Given the description of an element on the screen output the (x, y) to click on. 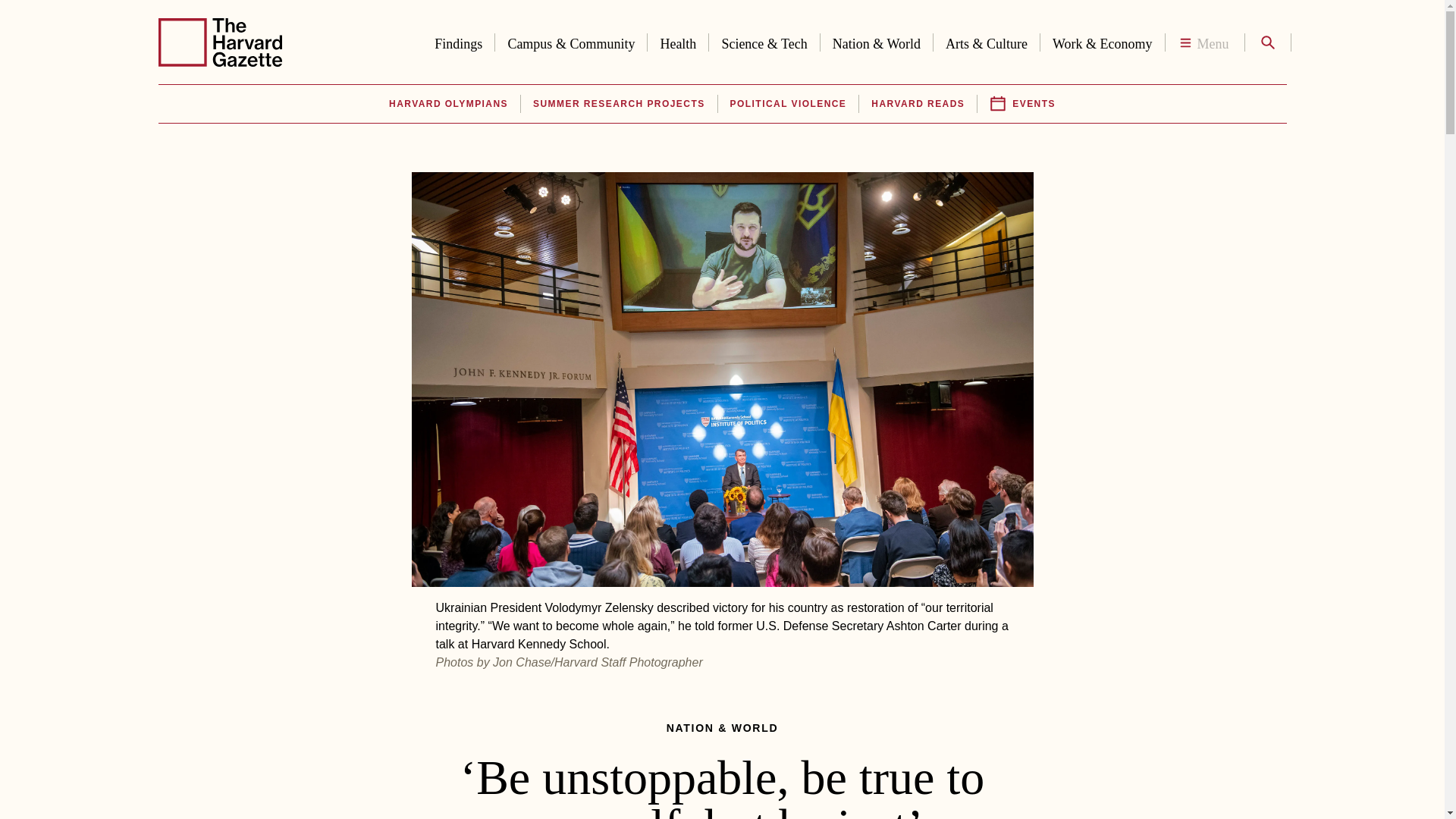
HARVARD OLYMPIANS (448, 103)
Menu (1204, 42)
Findings (457, 41)
SUMMER RESEARCH PROJECTS (619, 103)
Health (677, 41)
